Given the description of an element on the screen output the (x, y) to click on. 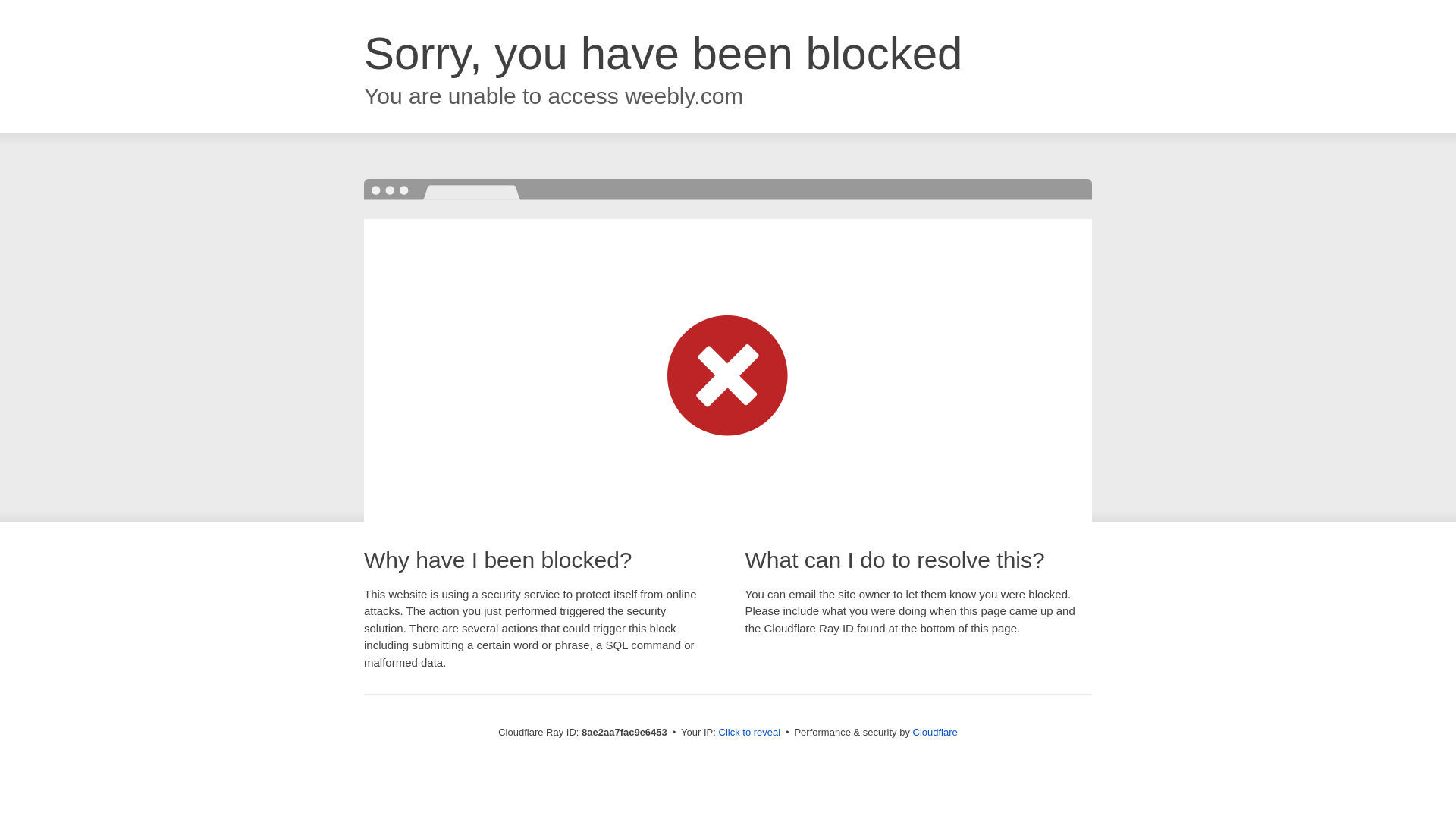
Click to reveal (749, 732)
Cloudflare (935, 731)
